Given the description of an element on the screen output the (x, y) to click on. 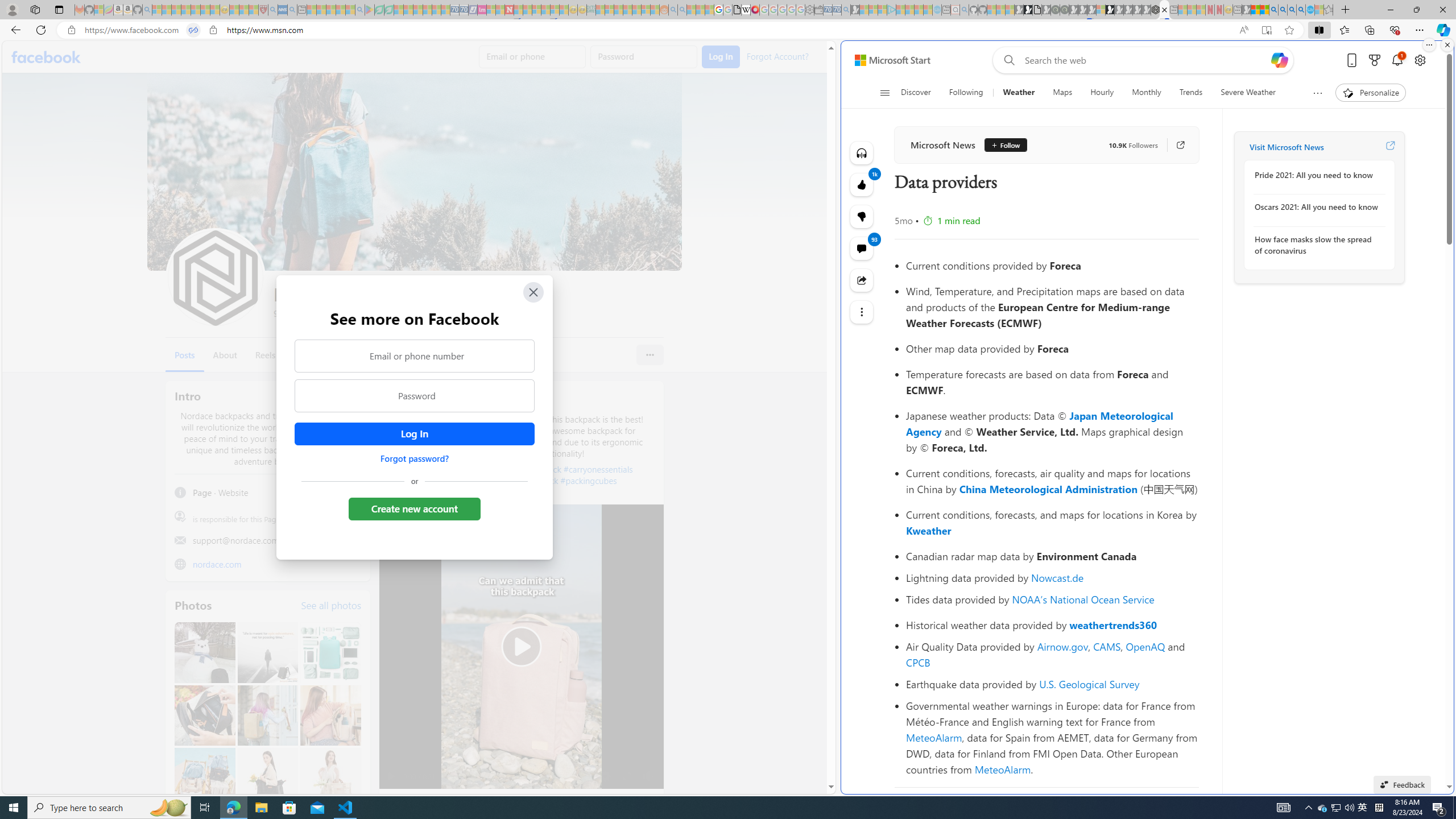
DITOGAMES AG Imprint - Sleeping (590, 9)
Microsoft News (942, 144)
OpenAQ (1144, 646)
Favorites (1344, 29)
Facebook (46, 56)
Microsoft Start (892, 60)
Target page - Wikipedia (745, 9)
Address and search bar (658, 29)
